Given the description of an element on the screen output the (x, y) to click on. 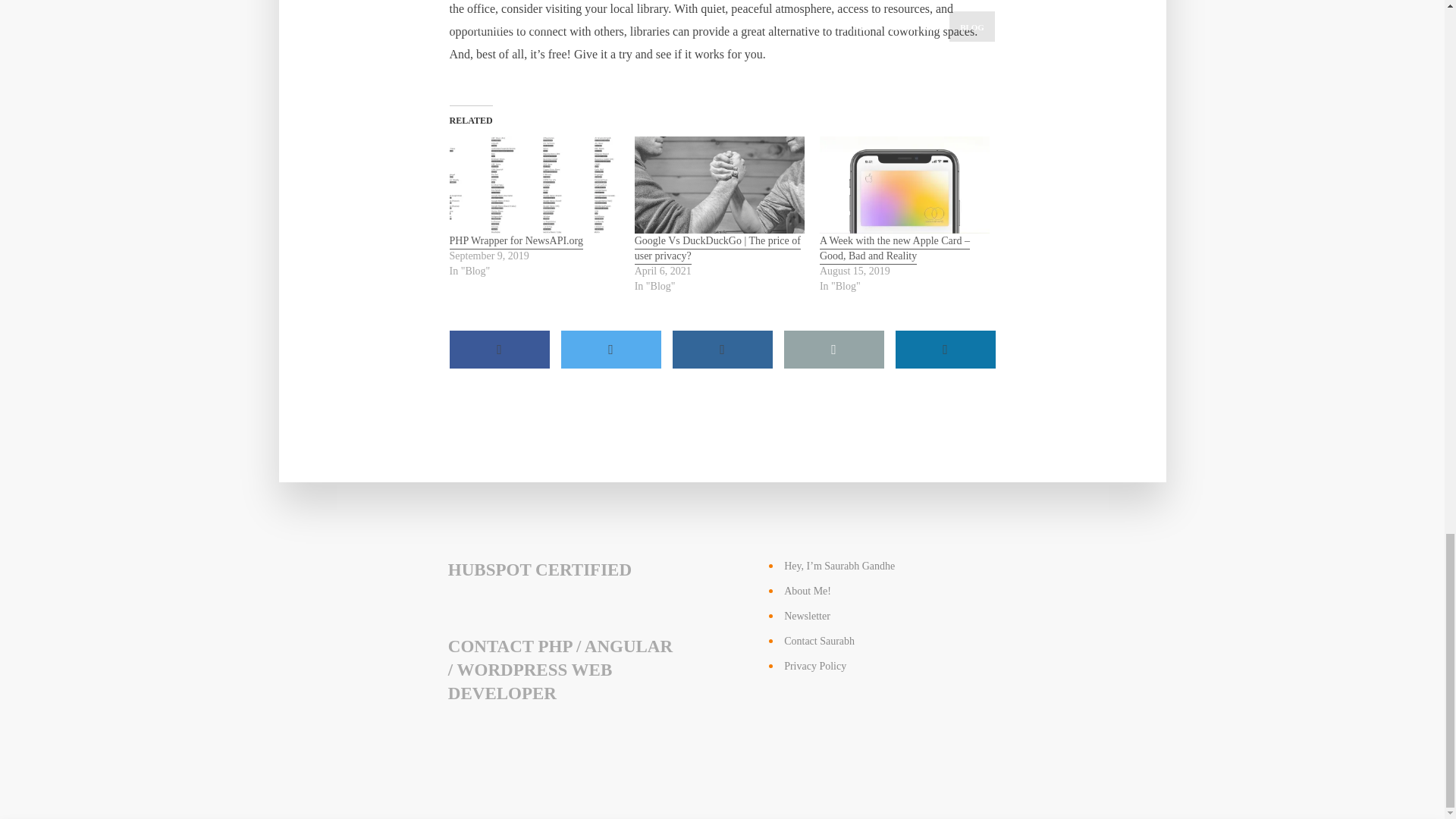
Newsletter (806, 615)
PHP Wrapper for NewsAPI.org (515, 242)
PHP Wrapper for NewsAPI.org (533, 184)
PHP Wrapper for NewsAPI.org (515, 242)
Contact Saurabh (819, 641)
About Me! (807, 591)
Privacy Policy (814, 665)
